Given the description of an element on the screen output the (x, y) to click on. 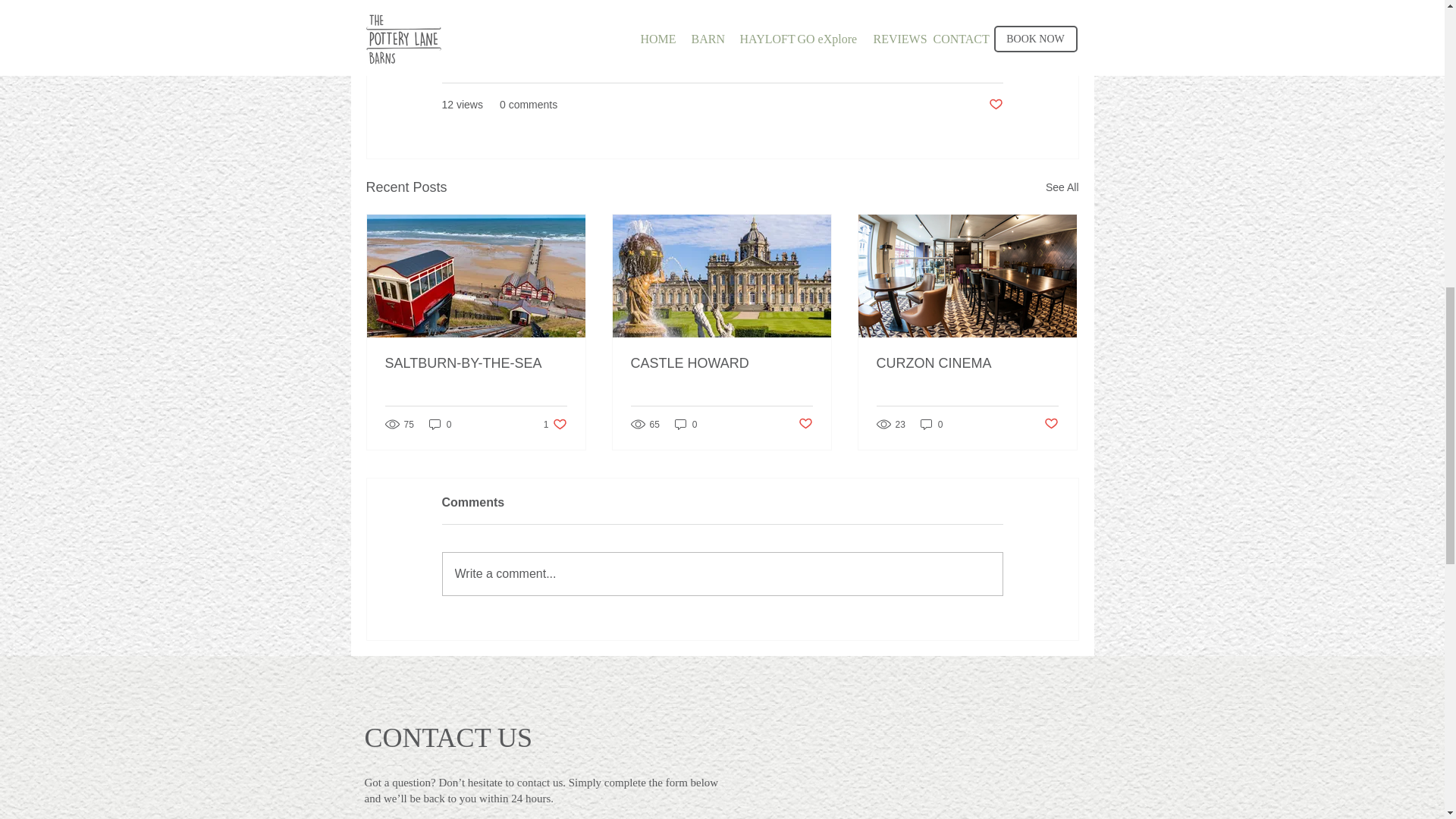
0 (931, 423)
CURZON CINEMA (967, 363)
0 (440, 423)
Write a comment... (722, 573)
See All (1061, 187)
0 (685, 423)
Post not marked as liked (804, 424)
SALTBURN-BY-THE-SEA (476, 363)
Post not marked as liked (995, 105)
SHOPPING (975, 59)
Post not marked as liked (1050, 424)
CASTLE HOWARD (555, 423)
THINGS TO DO (721, 363)
